Given the description of an element on the screen output the (x, y) to click on. 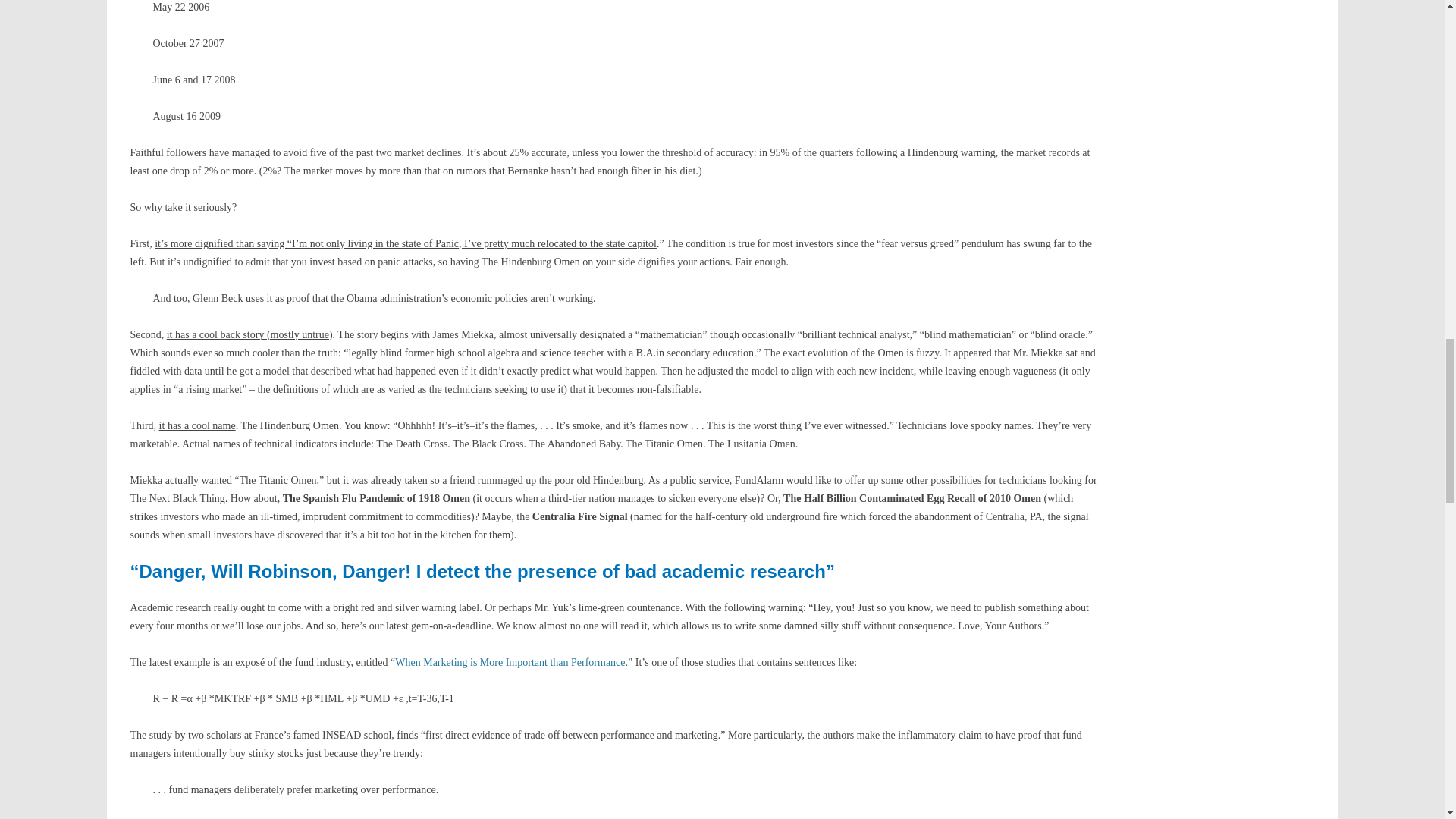
When Marketing is More Important than Performance (509, 662)
